Given the description of an element on the screen output the (x, y) to click on. 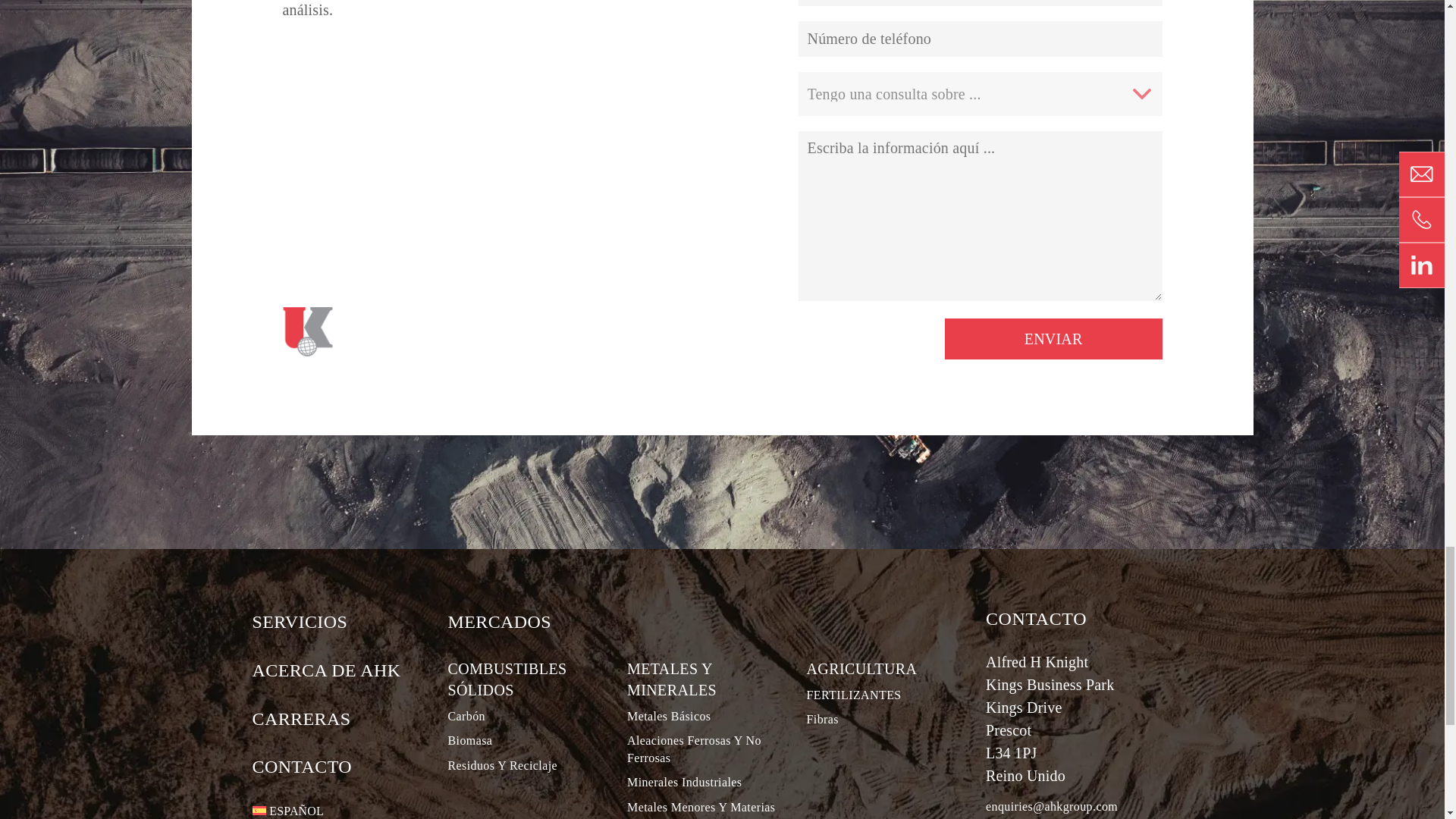
enviar (1052, 338)
